Given the description of an element on the screen output the (x, y) to click on. 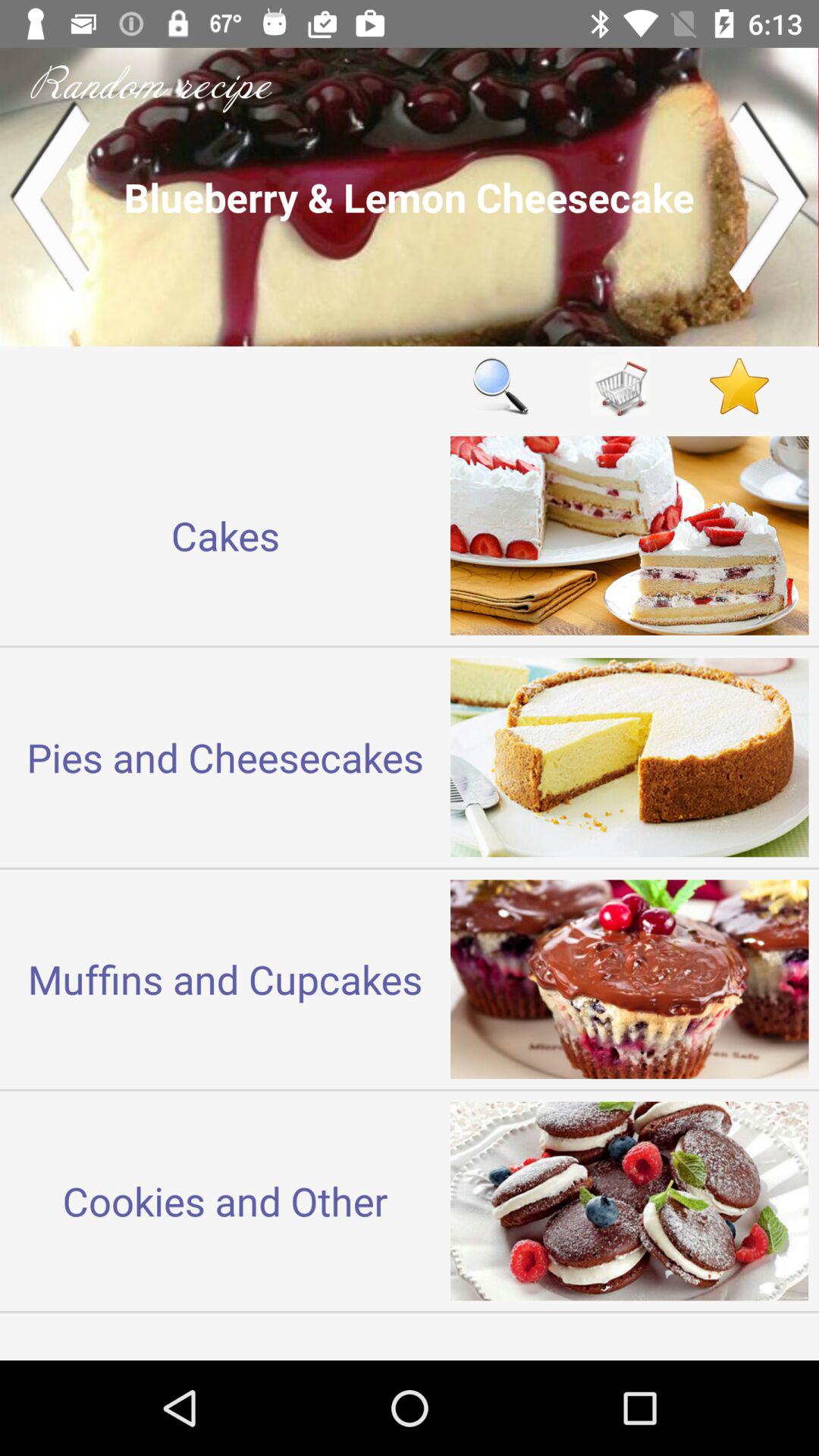
see the cart (619, 385)
